Given the description of an element on the screen output the (x, y) to click on. 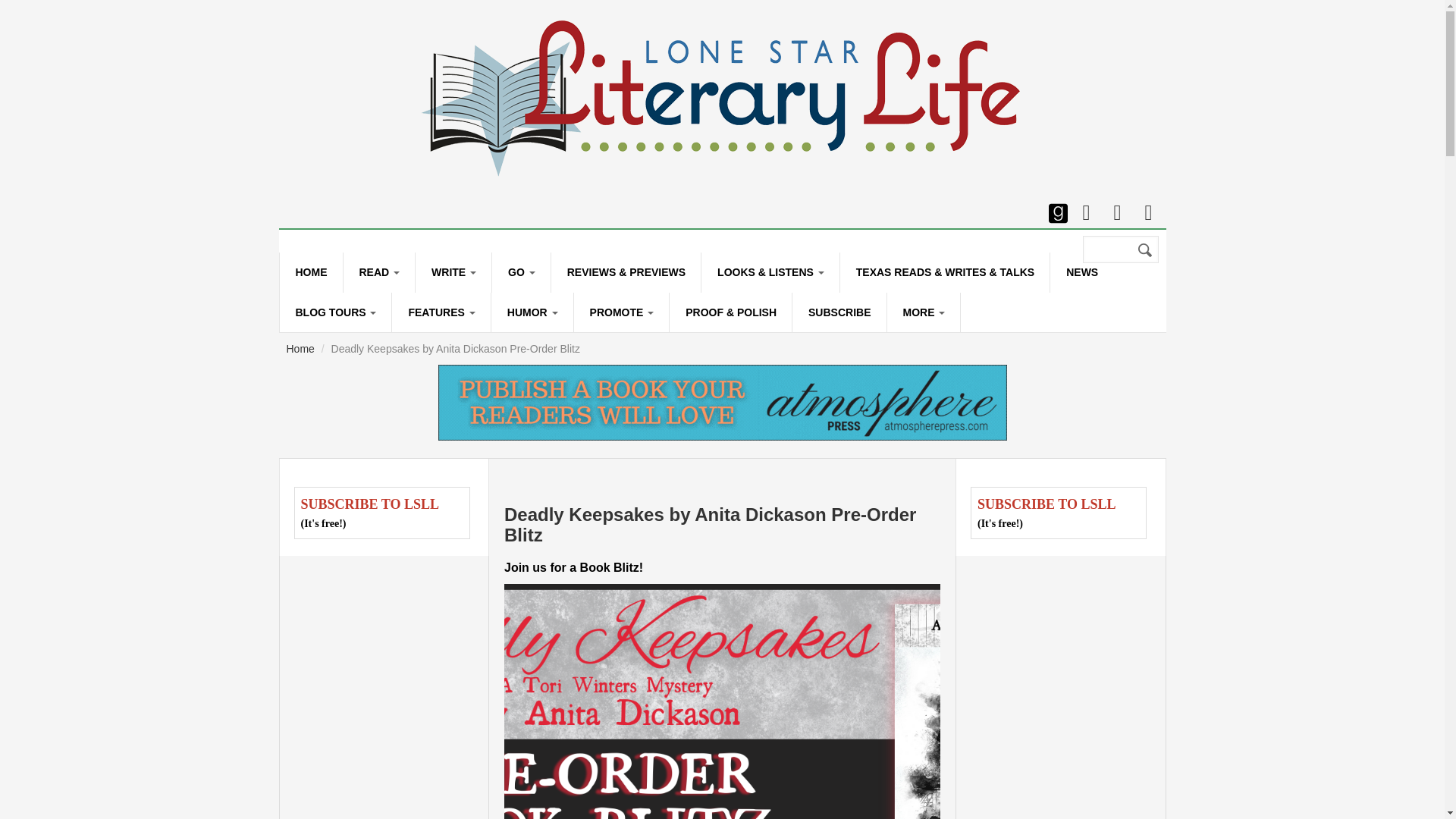
Humor (532, 312)
HOME (310, 271)
Kids' Summer Reads (466, 357)
Lone Star Book Blog Tours (335, 312)
SUBSCRIBE (838, 312)
WRITE (453, 271)
Texas Writers' Groups (490, 318)
Texas Bookstores (418, 318)
Features (440, 312)
Lone Star Reviews (625, 271)
Lone Star Listens (770, 271)
GO (521, 271)
This Week's Events (566, 318)
Go (521, 271)
Bookish Humor (566, 357)
